Given the description of an element on the screen output the (x, y) to click on. 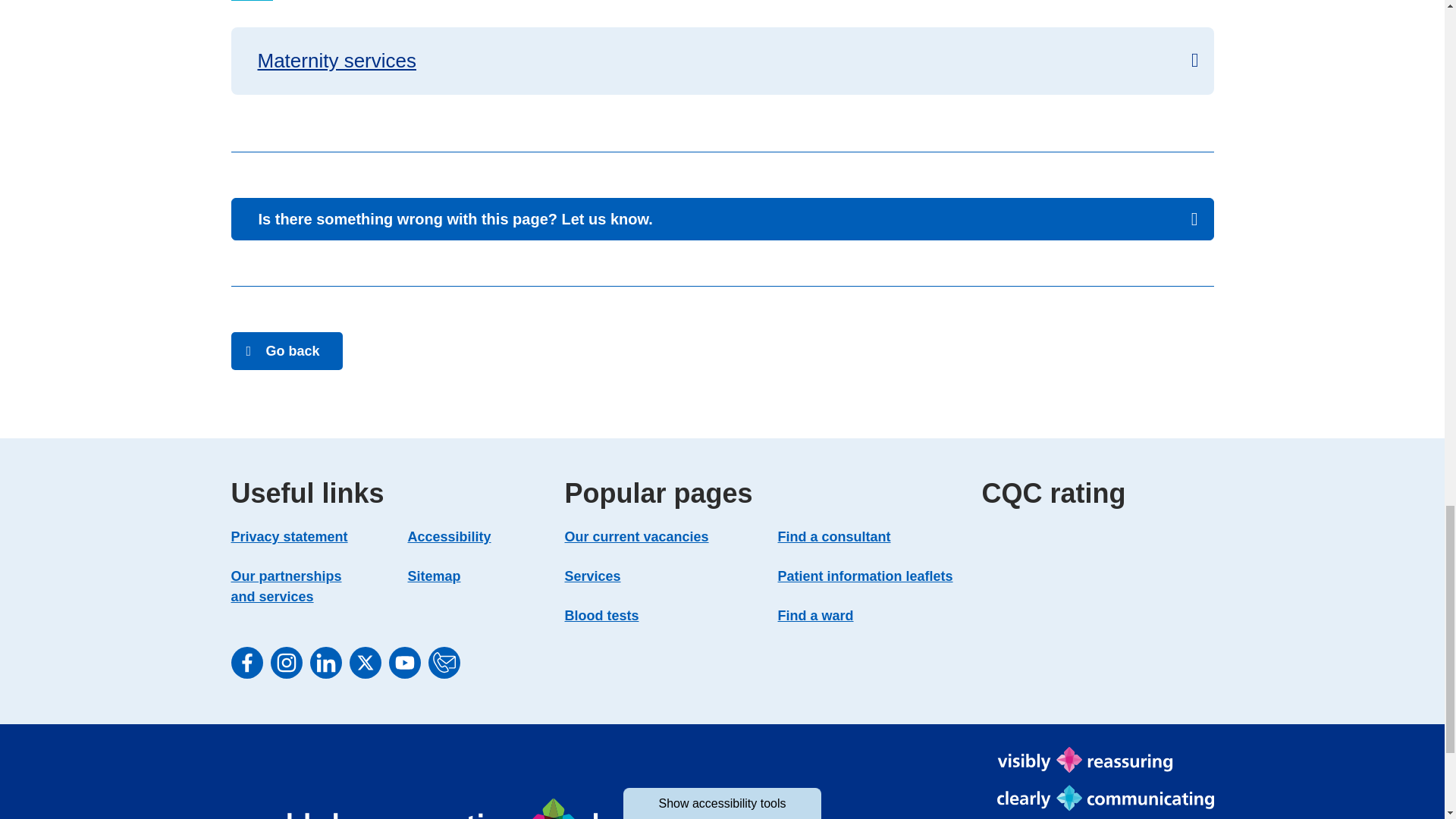
Go back to Other sites (286, 351)
Email (444, 662)
X (364, 662)
LinkedIn (324, 662)
Facebook (246, 662)
Instagram (285, 662)
Youtube (404, 662)
